Given the description of an element on the screen output the (x, y) to click on. 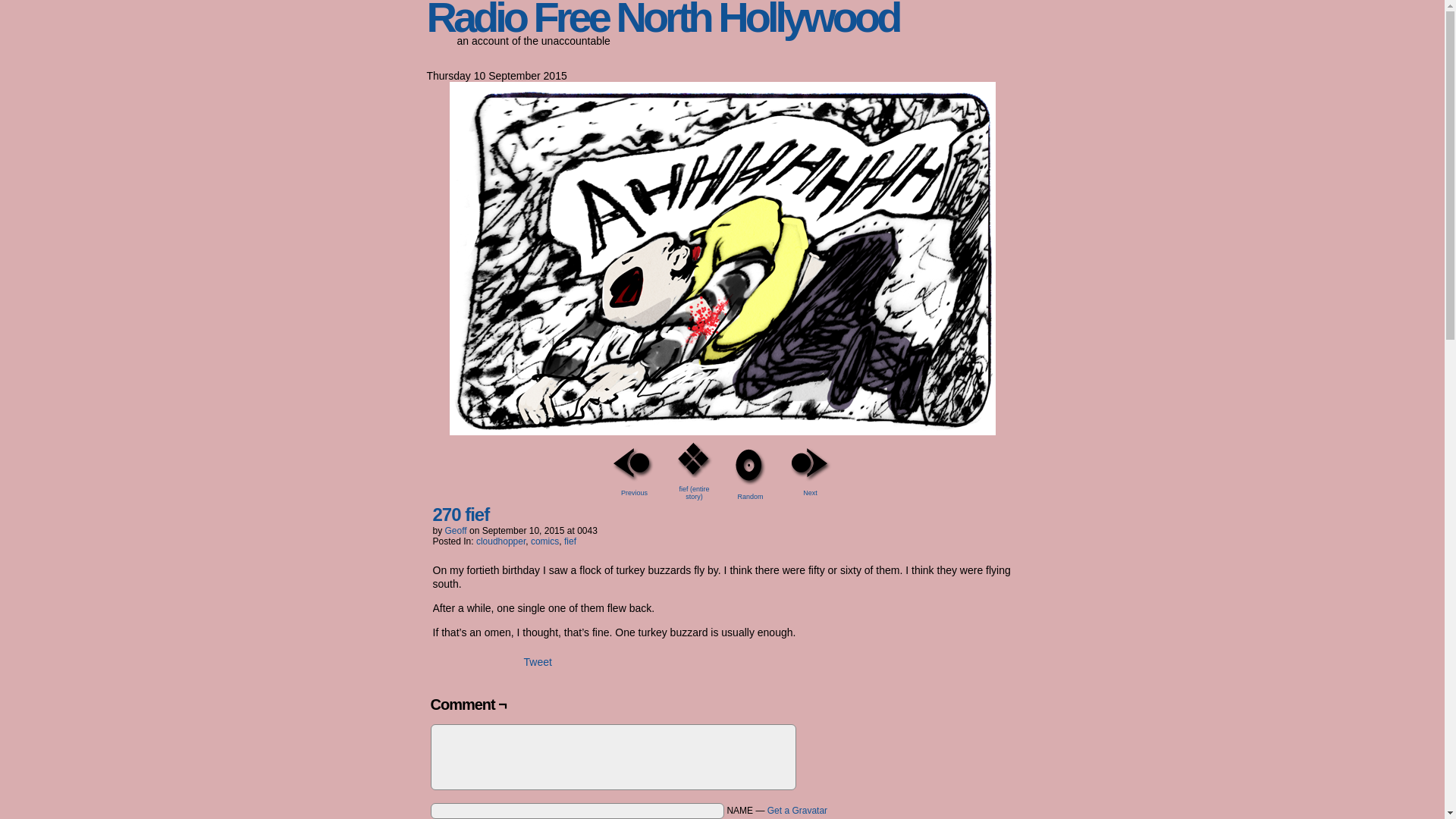
cloudhopper (500, 541)
Get a Gravatar (797, 810)
Random (749, 473)
fief (570, 541)
Geoff (456, 530)
Radio Free North Hollywood (662, 20)
Tweet (536, 662)
Next (809, 469)
Random (749, 473)
Previous (634, 469)
Previous (634, 469)
Next (809, 469)
270 fief (460, 515)
comics (545, 541)
